Given the description of an element on the screen output the (x, y) to click on. 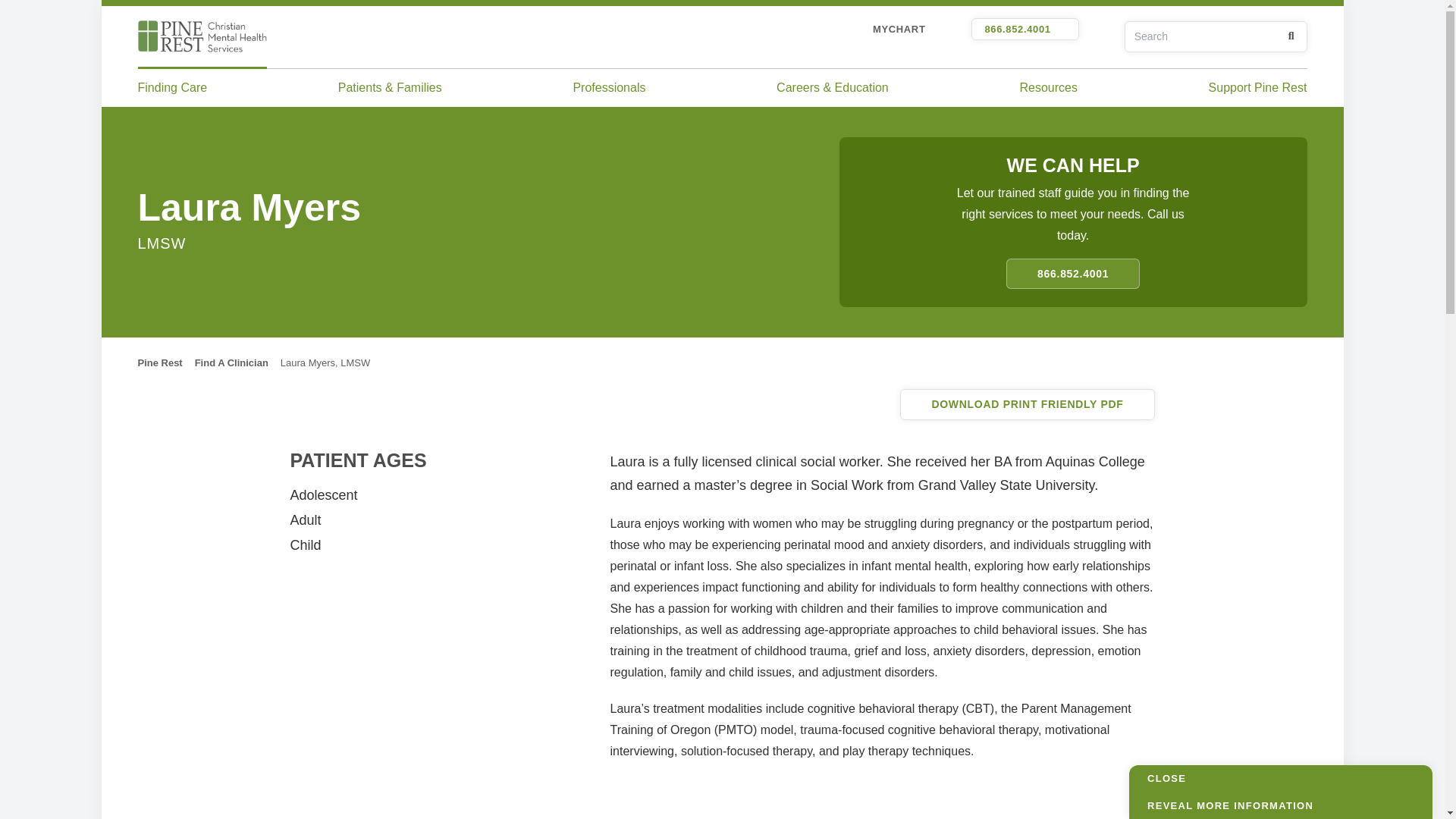
MYCHART (899, 29)
866.852.4001 (1024, 29)
Go to Pine Rest. (160, 362)
Go to Find A Clinician. (231, 362)
Finding Care (173, 86)
